Given the description of an element on the screen output the (x, y) to click on. 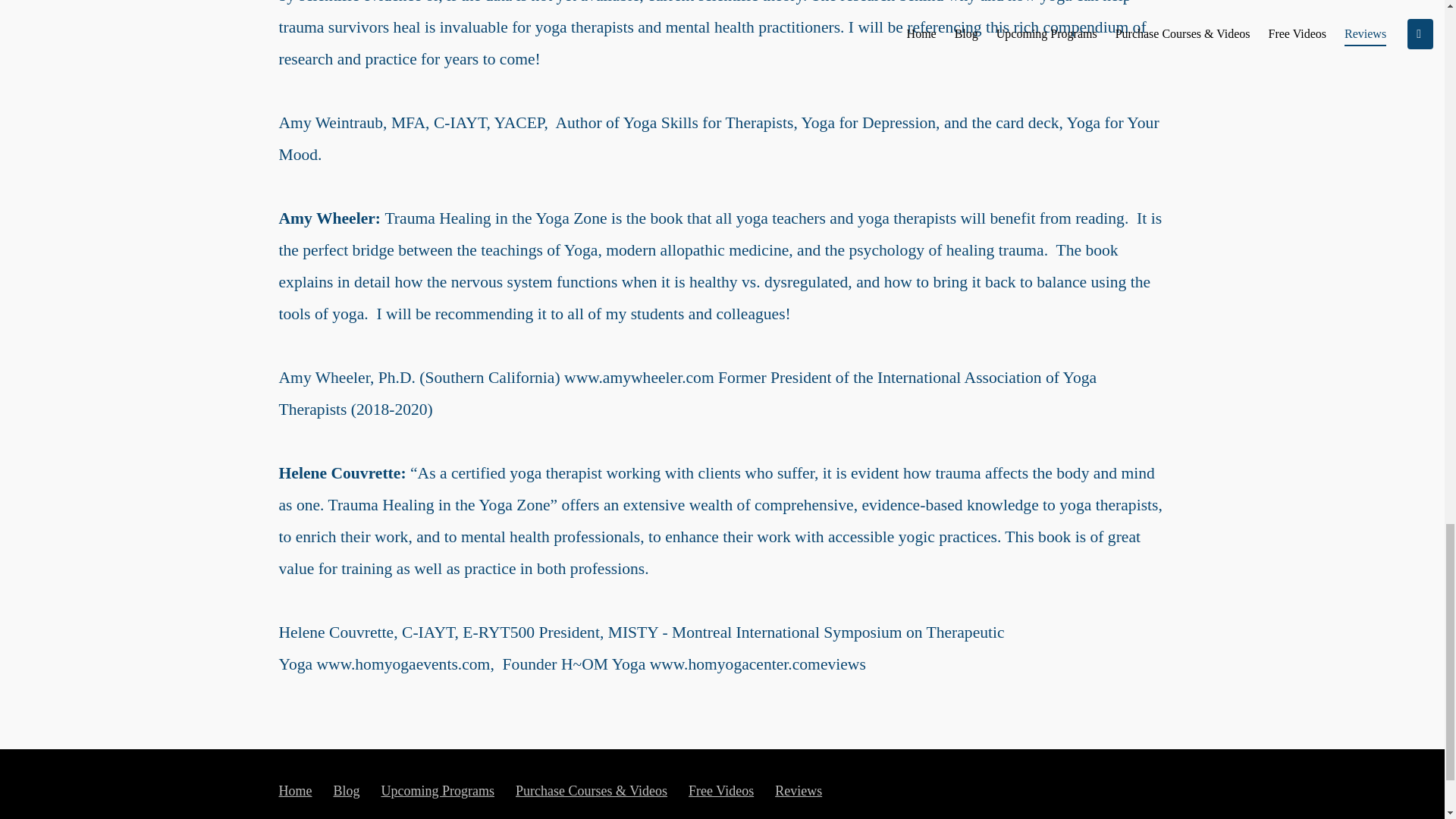
Home (296, 790)
Blog (346, 790)
Reviews (798, 790)
Free Videos (721, 790)
Upcoming Programs (438, 790)
